Given the description of an element on the screen output the (x, y) to click on. 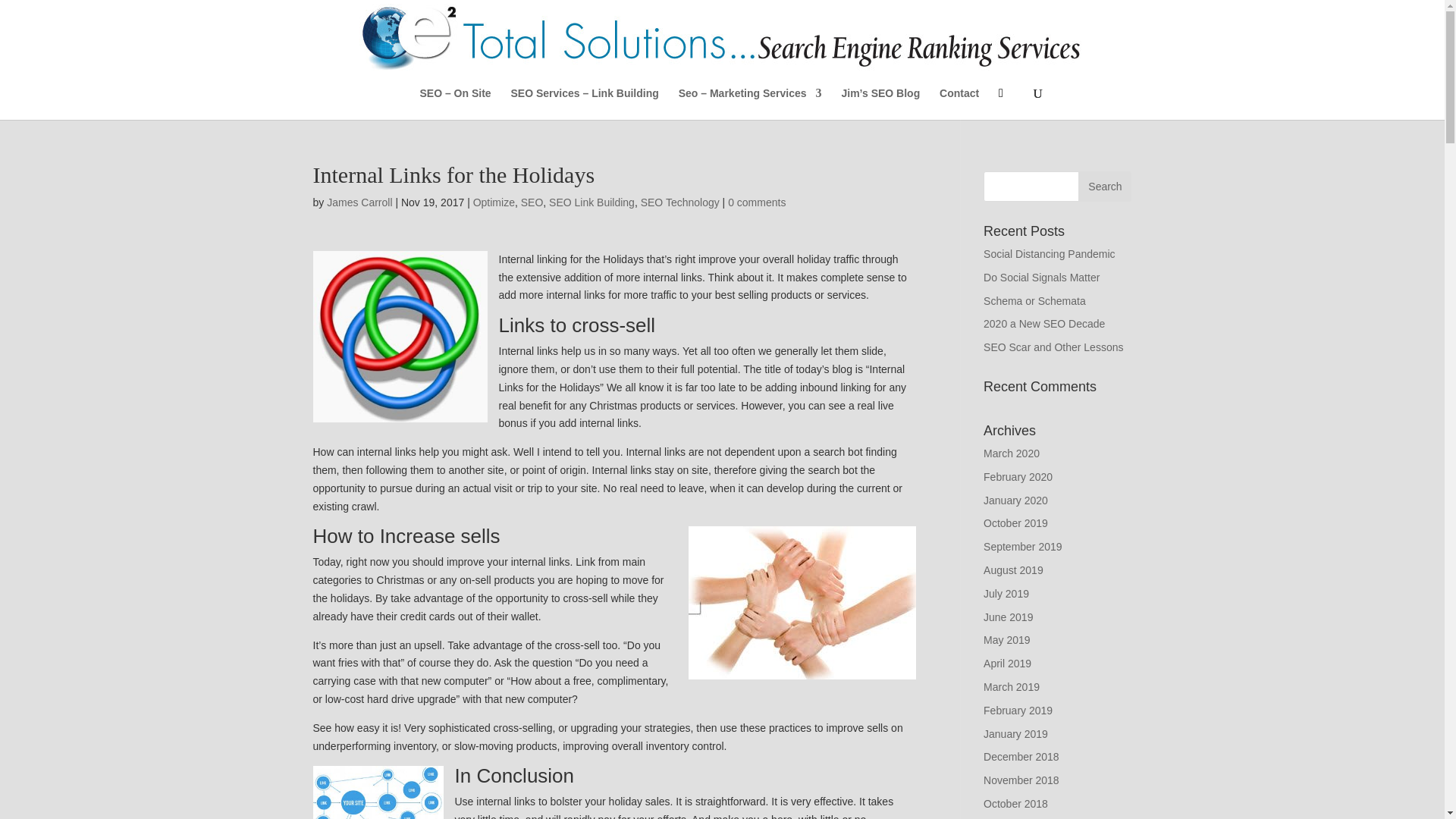
August 2019 (1013, 570)
March 2019 (1011, 686)
2020 a New SEO Decade (1044, 323)
SEO Link Building (591, 202)
Contact (958, 103)
Social Distancing Pandemic (1049, 254)
July 2019 (1006, 593)
Optimize (494, 202)
James Carroll (358, 202)
March 2020 (1011, 453)
